Given the description of an element on the screen output the (x, y) to click on. 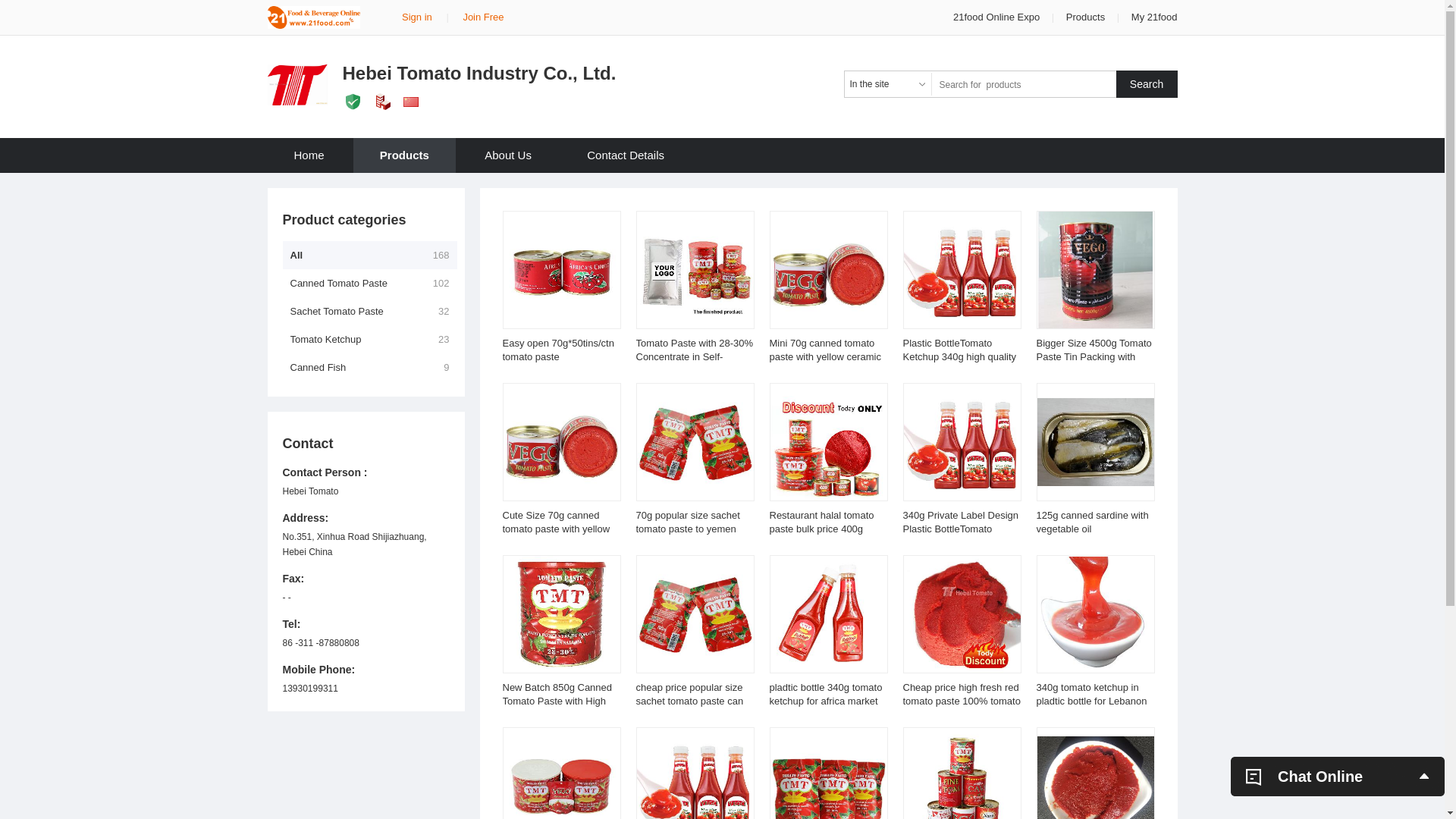
Tomato Paste with 28-30% Concentrate in Self-Standing Pouch Element type: text (694, 356)
21food Online Expo Element type: text (997, 16)
Sign in Element type: text (416, 16)
70g popular size sachet tomato paste to yemen market Element type: text (687, 528)
Home Element type: text (308, 155)
New Batch 850g Canned Tomato Paste with High Quality Element type: text (556, 700)
Products Element type: text (404, 155)
Search Element type: text (1146, 83)
Contact Details Element type: text (625, 155)
My 21food Element type: text (1154, 16)
Products Element type: text (1085, 16)
pladtic bottle 340g tomato ketchup for africa market Element type: text (824, 693)
Plastic BottleTomato Ketchup 340g high quality Element type: text (959, 349)
About Us Element type: text (508, 155)
Join Free Element type: text (482, 16)
340g Private Label Design Plastic BottleTomato Ketchup Element type: text (960, 528)
340g tomato ketchup in pladtic bottle for Lebanon market Element type: text (1090, 700)
125g canned sardine with vegetable oil Element type: text (1091, 521)
Easy open 70g*50tins/ctn tomato paste Element type: text (557, 349)
